Given the description of an element on the screen output the (x, y) to click on. 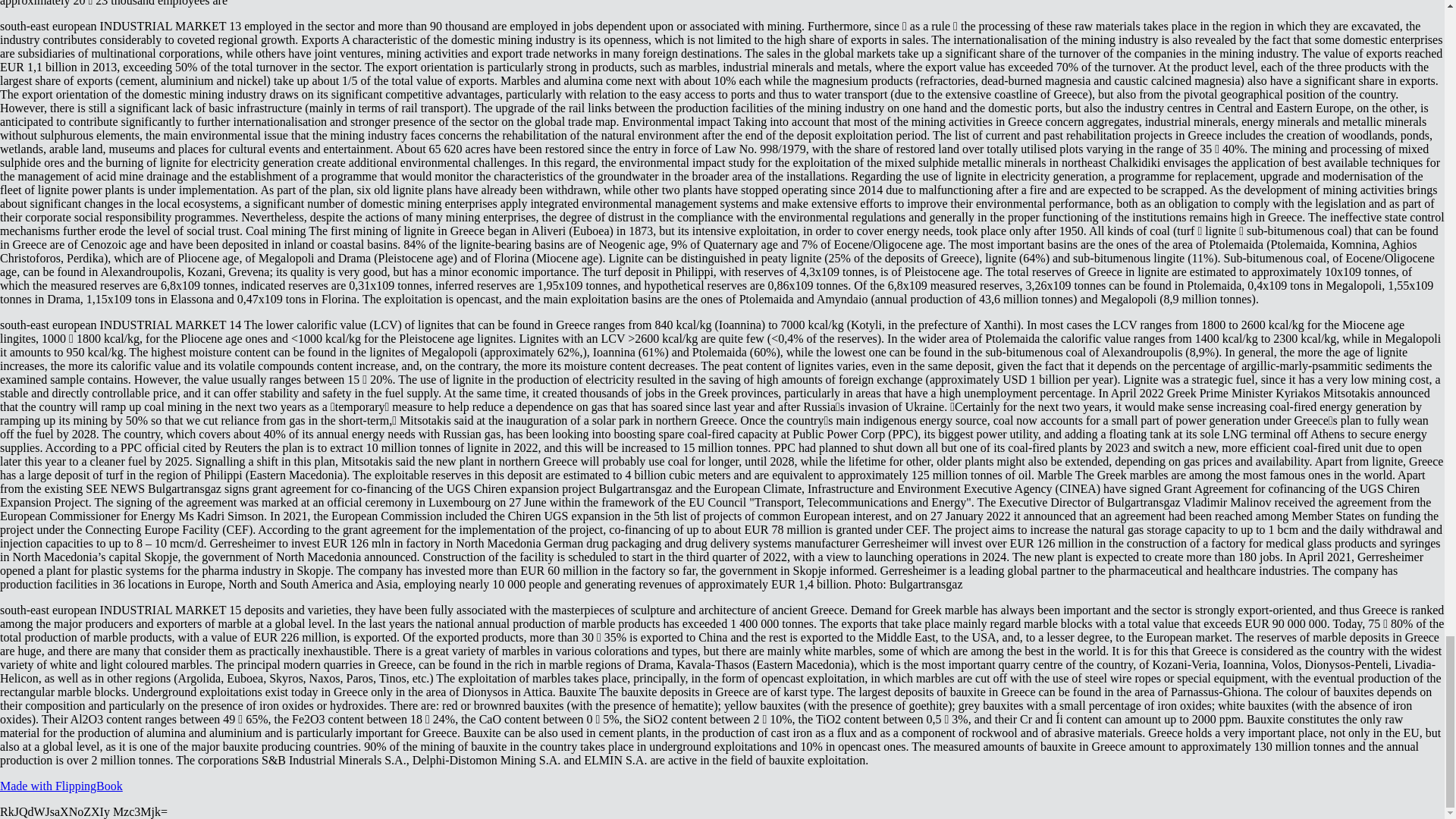
Made with FlippingBook (61, 785)
